Given the description of an element on the screen output the (x, y) to click on. 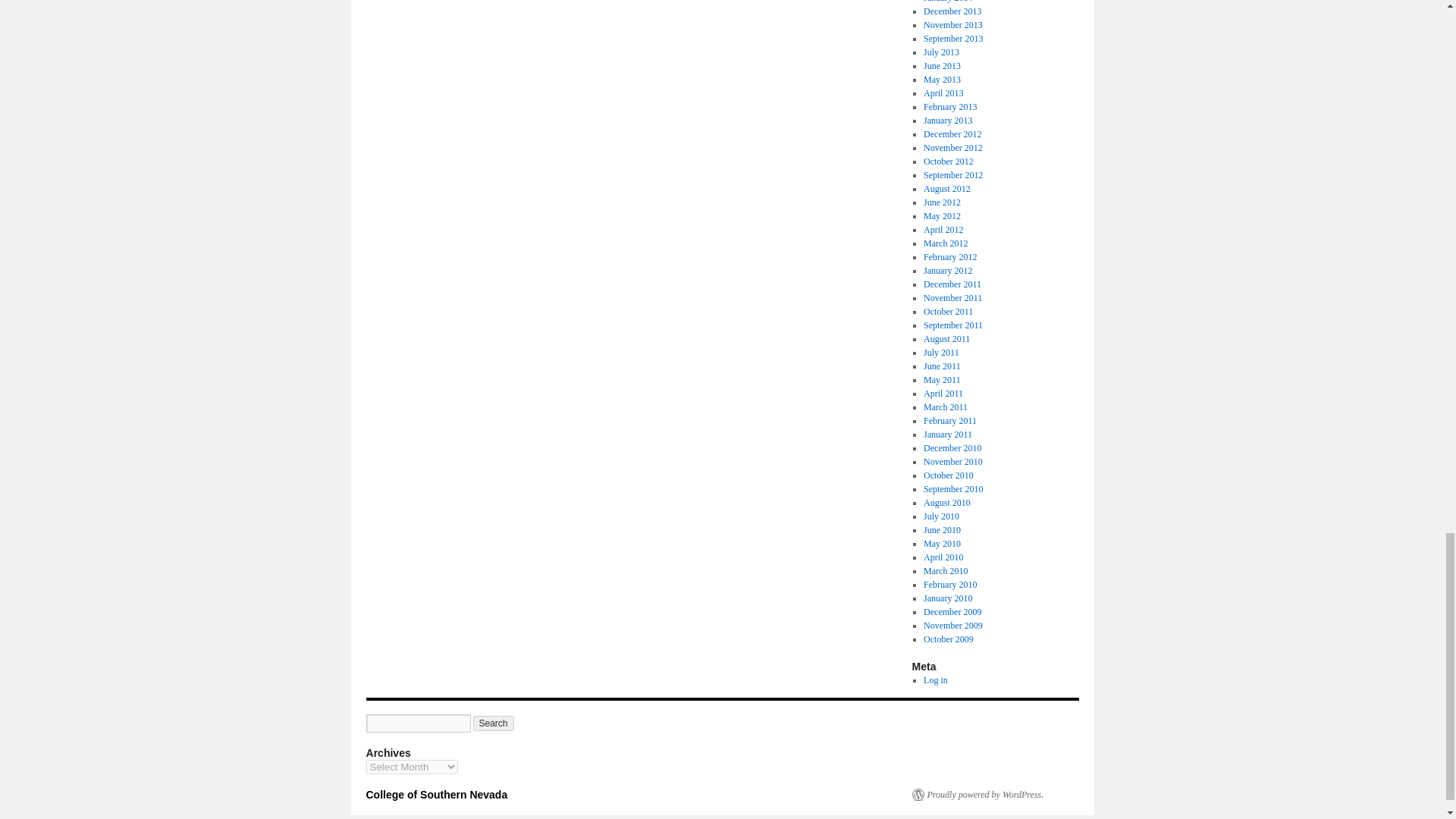
Search (493, 723)
College of Southern Nevada (435, 794)
Semantic Personal Publishing Platform (977, 794)
